Given the description of an element on the screen output the (x, y) to click on. 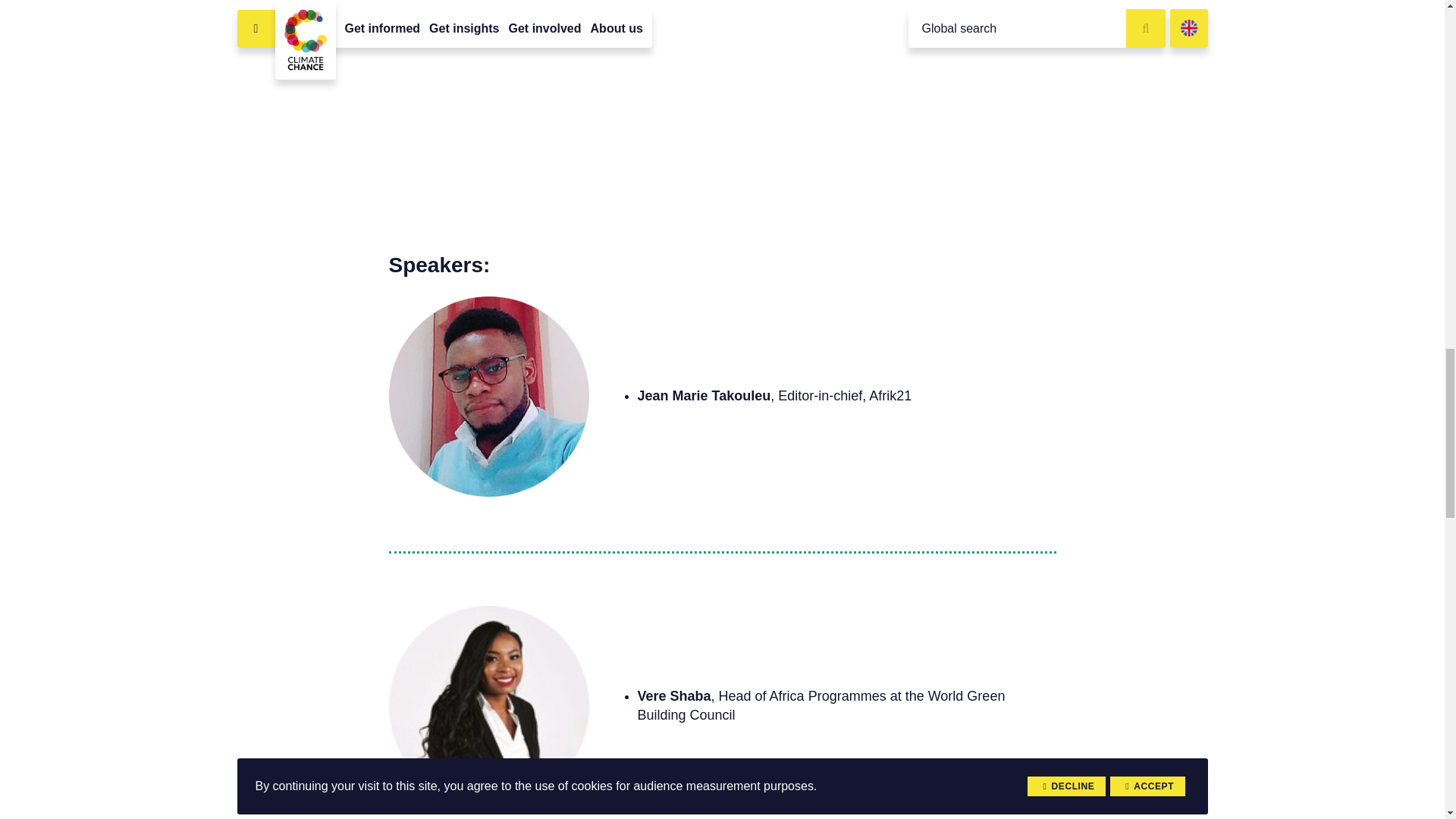
YouTube video player (721, 96)
